Given the description of an element on the screen output the (x, y) to click on. 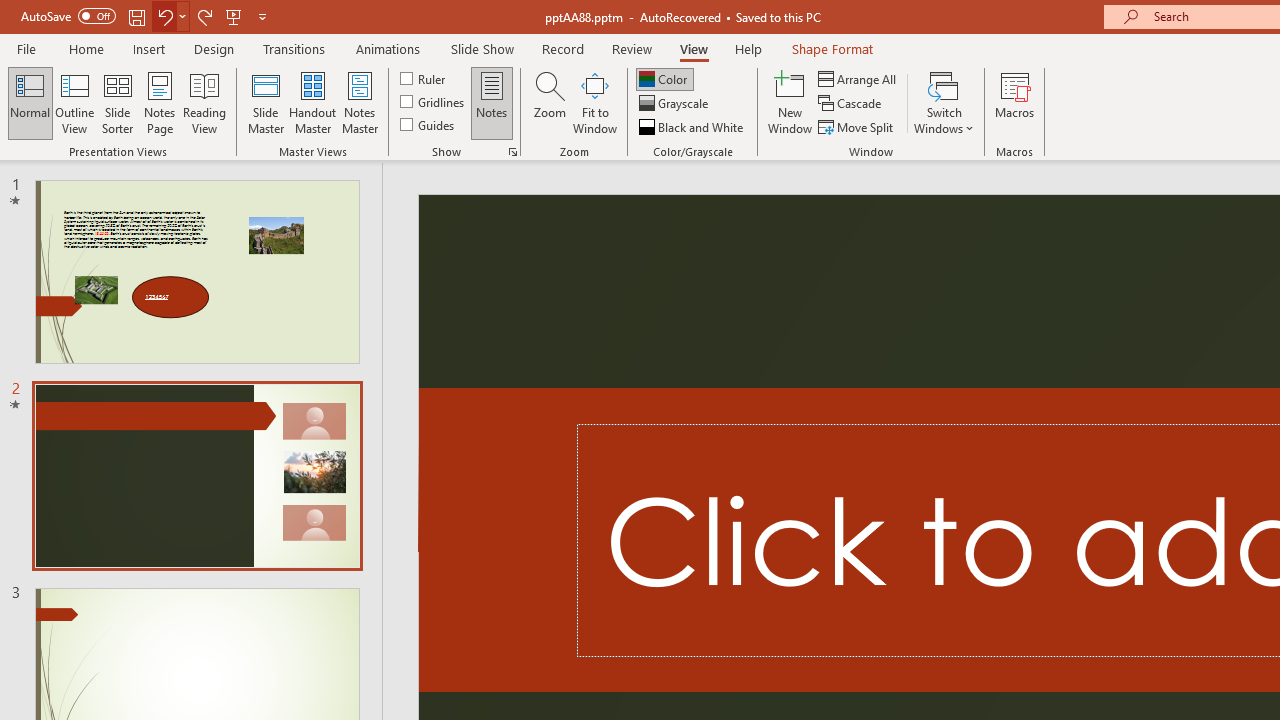
Black and White (693, 126)
Grid Settings... (512, 151)
Slide Master (265, 102)
Move Split (857, 126)
Arrange All (858, 78)
Notes Master (360, 102)
Switch Windows (943, 102)
